Given the description of an element on the screen output the (x, y) to click on. 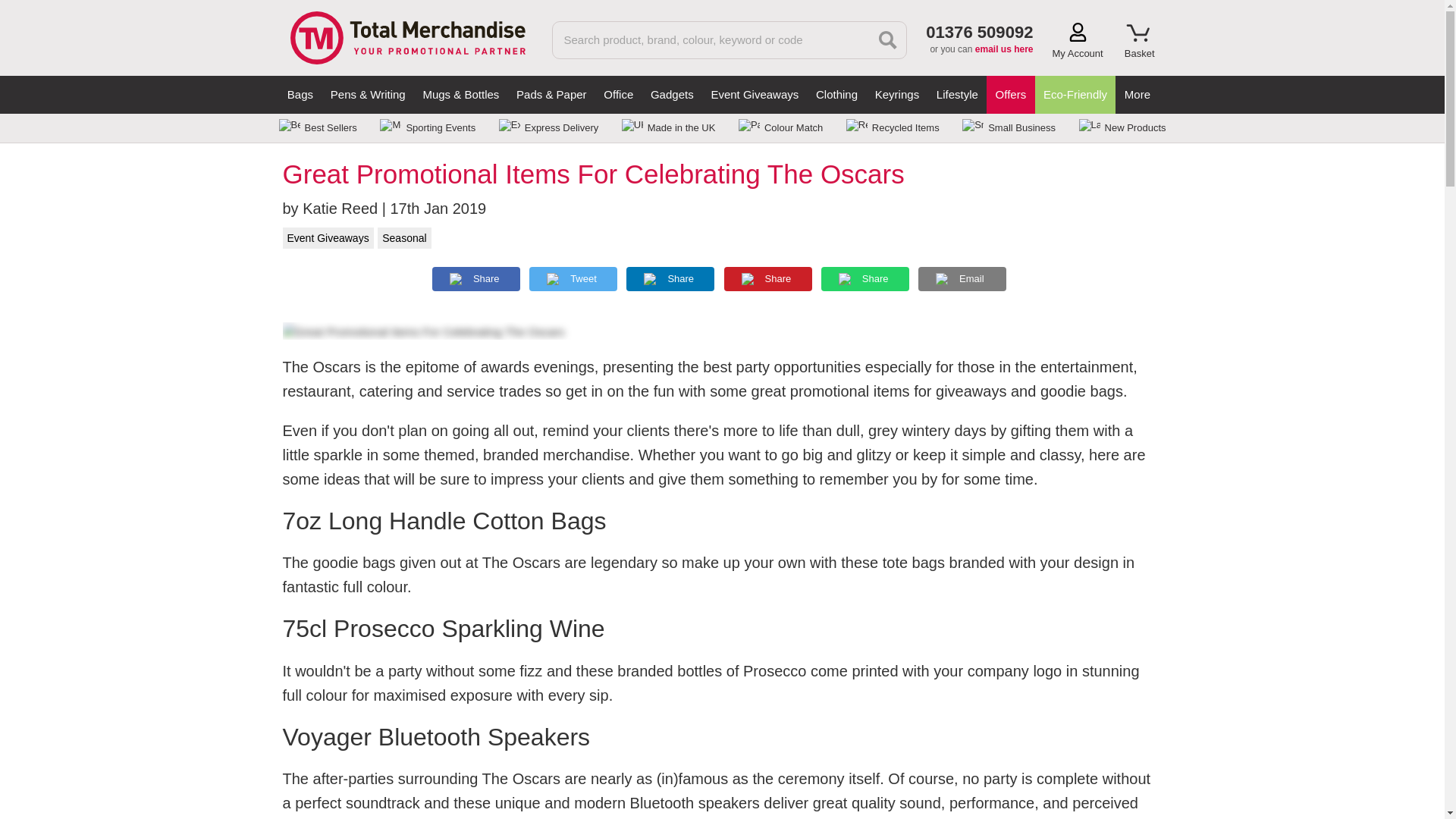
My Account (1077, 41)
Submit your search (888, 39)
Get in touch (1004, 49)
01376 509092 (979, 31)
Total Merchandise (406, 35)
Bags (300, 94)
email us here (1004, 49)
Promotional Bags (300, 94)
